Given the description of an element on the screen output the (x, y) to click on. 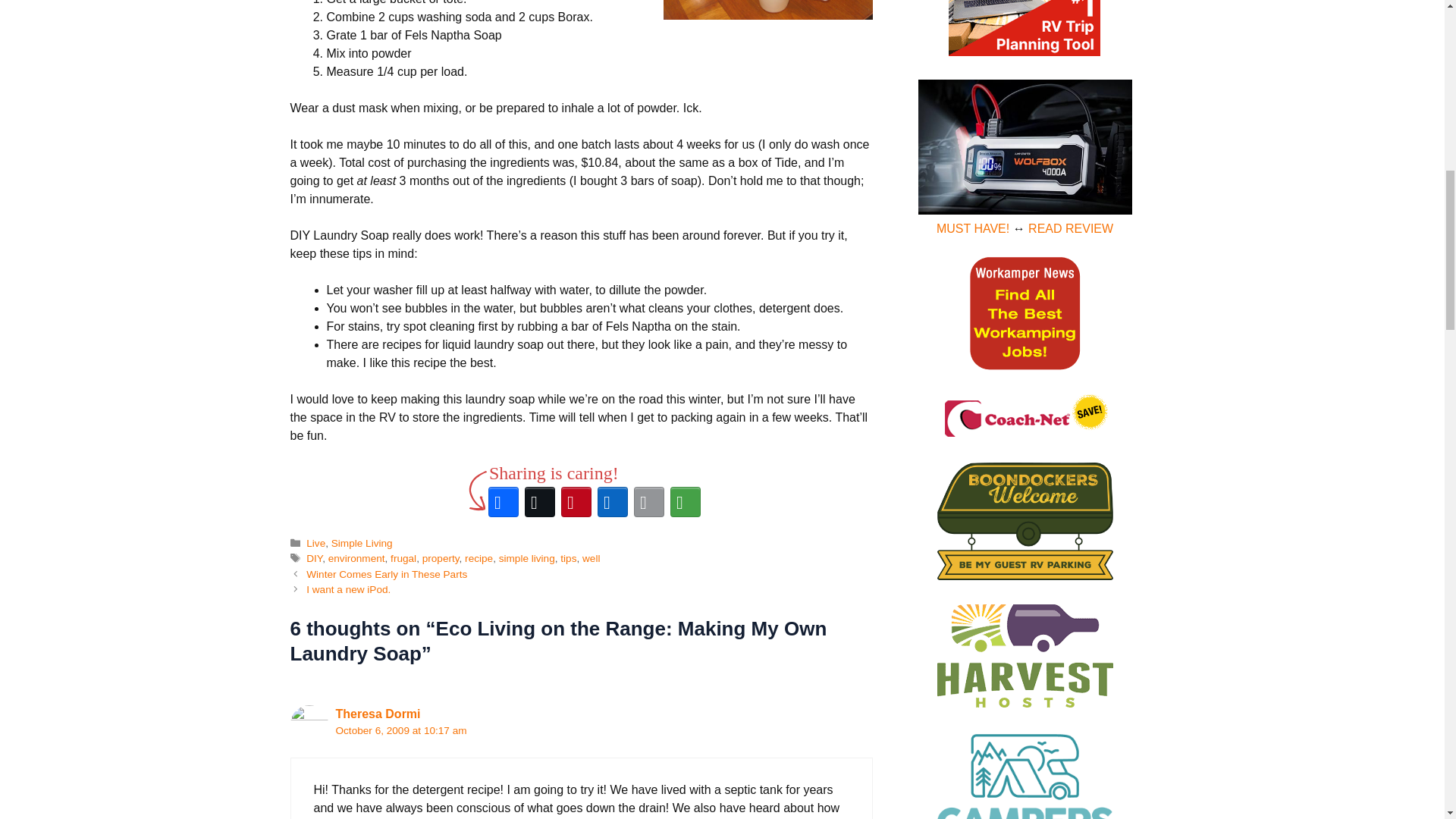
DIY (313, 558)
LinkedIn (612, 502)
Email This (648, 502)
frugal (403, 558)
More Options (684, 502)
Live (314, 542)
environment (357, 558)
Homemade DIY Laundry Soap Recipe (767, 9)
Facebook (502, 502)
Pinterest (575, 502)
Simple Living (362, 542)
